Given the description of an element on the screen output the (x, y) to click on. 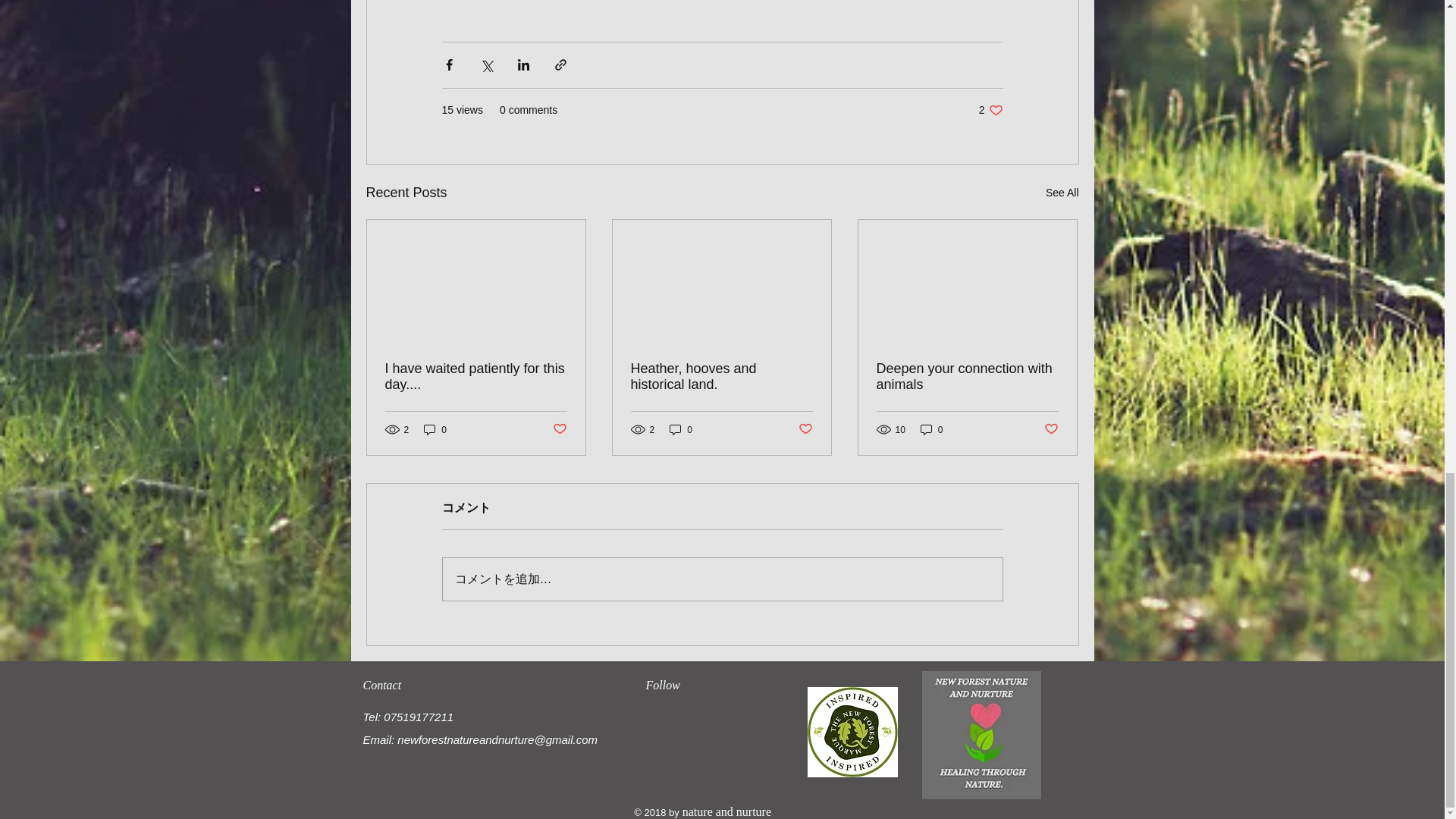
See All (1061, 192)
0 (990, 110)
I have waited patiently for this day.... (681, 429)
Heather, hooves and historical land. (476, 377)
Post not marked as liked (721, 377)
Deepen your connection with animals (804, 429)
Post not marked as liked (967, 377)
0 (558, 429)
0 (435, 429)
Post not marked as liked (931, 429)
